Given the description of an element on the screen output the (x, y) to click on. 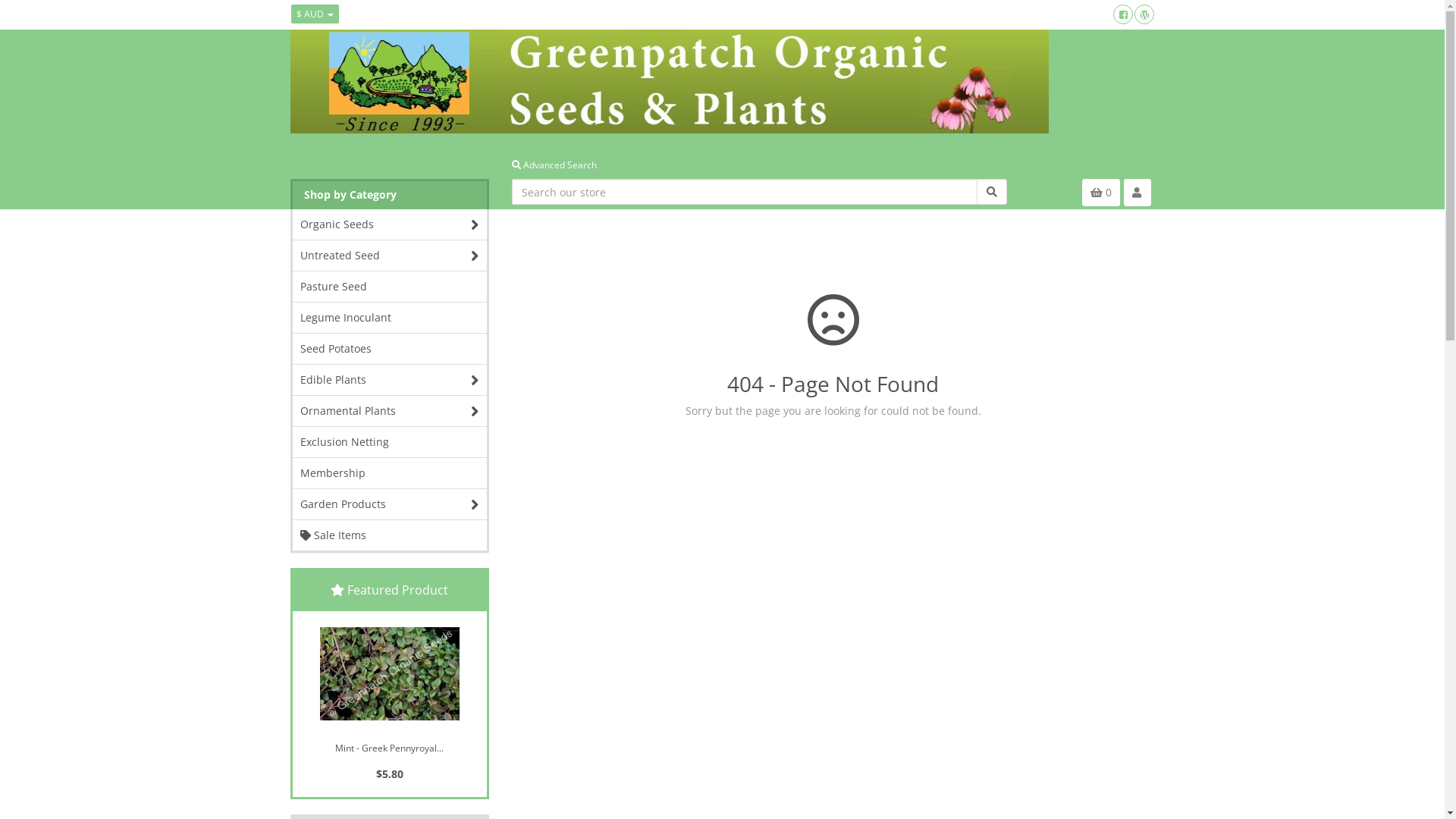
Garden Products Element type: text (389, 504)
Edible Plants Element type: text (389, 379)
Facebook Element type: hover (1122, 14)
Pasture Seed Element type: text (389, 286)
Legume Inoculant Element type: text (389, 317)
$ AUD Element type: text (314, 13)
Untreated Seed Element type: text (389, 255)
Seed Potatoes Element type: text (389, 348)
Ornamental Plants Element type: text (389, 410)
Advanced Search Element type: text (553, 164)
Mint - Greek Pennyroyal Plant Element type: hover (389, 673)
Mint - Greek Pennyroyal... Element type: text (389, 744)
Organic Seeds Element type: text (389, 224)
Search Element type: text (991, 191)
Membership Element type: text (389, 473)
WordPress Element type: hover (1144, 14)
0 Element type: text (1100, 192)
Sale Items Element type: text (389, 535)
Exclusion Netting Element type: text (389, 441)
